Given the description of an element on the screen output the (x, y) to click on. 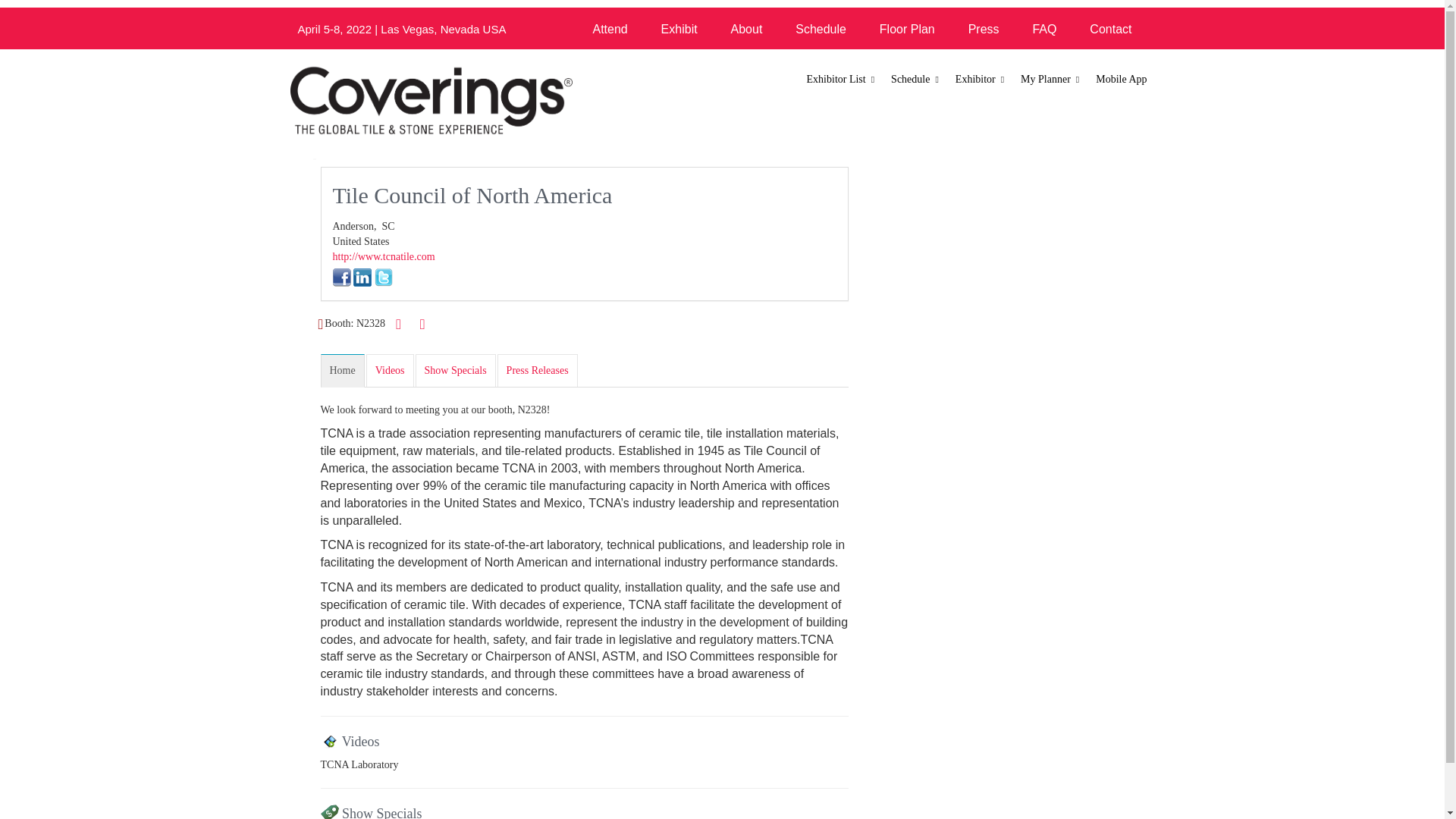
Schedule (915, 79)
Mobile App (1120, 79)
Add To My Exhibitors (421, 324)
Exhibitor List (841, 79)
My Planner (1050, 79)
Print (398, 323)
Floor Plan (907, 29)
About (746, 29)
Press (983, 29)
Exhibitor (980, 79)
